Given the description of an element on the screen output the (x, y) to click on. 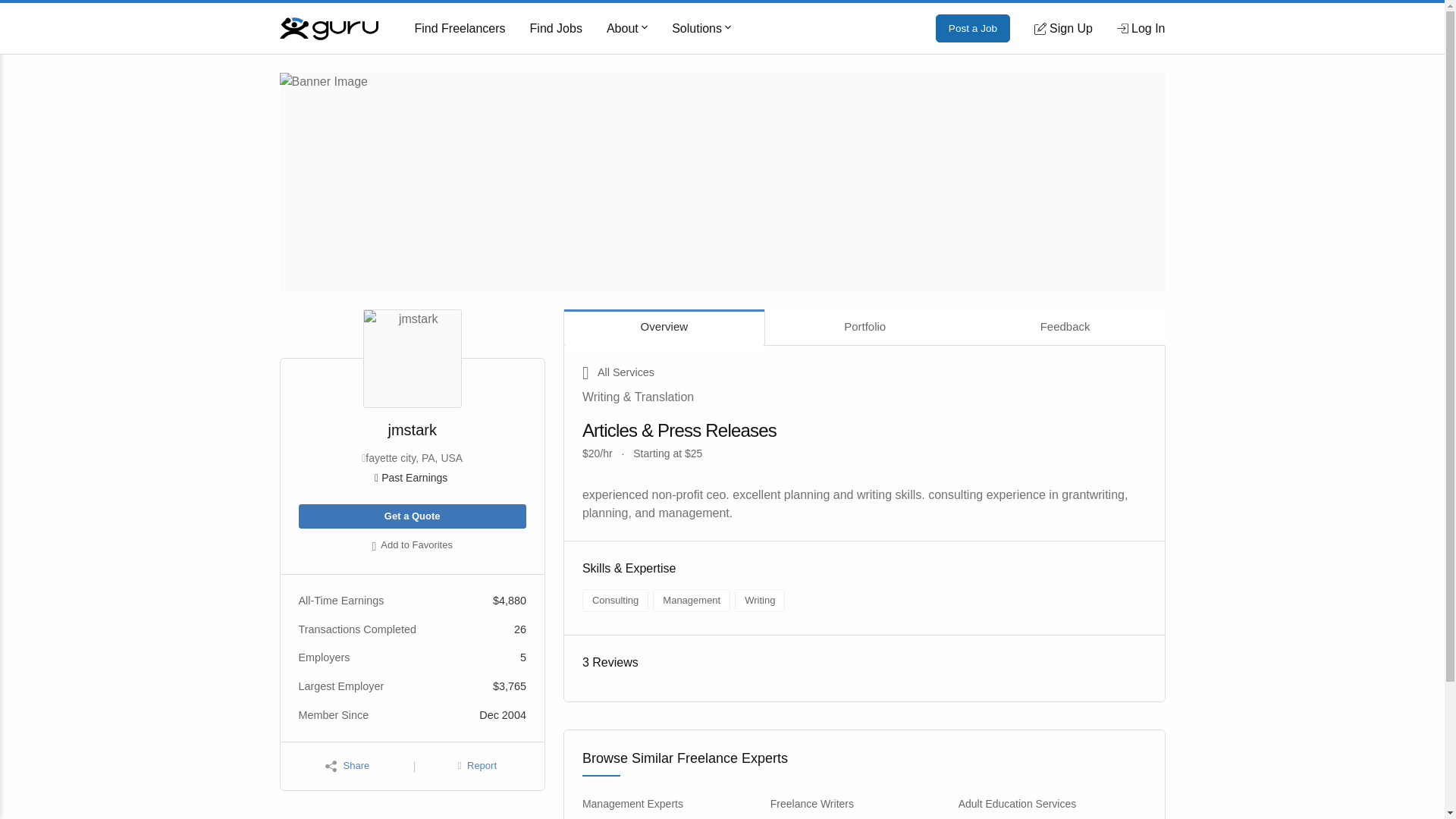
Share (347, 766)
Portfolio (865, 326)
Guru (328, 27)
Sign Up (1063, 28)
Find a Job (555, 28)
Get a Quote (411, 516)
Report (477, 766)
Earnings in last 12 months (411, 477)
Find a Freelancer (459, 28)
Find Jobs (555, 28)
